Given the description of an element on the screen output the (x, y) to click on. 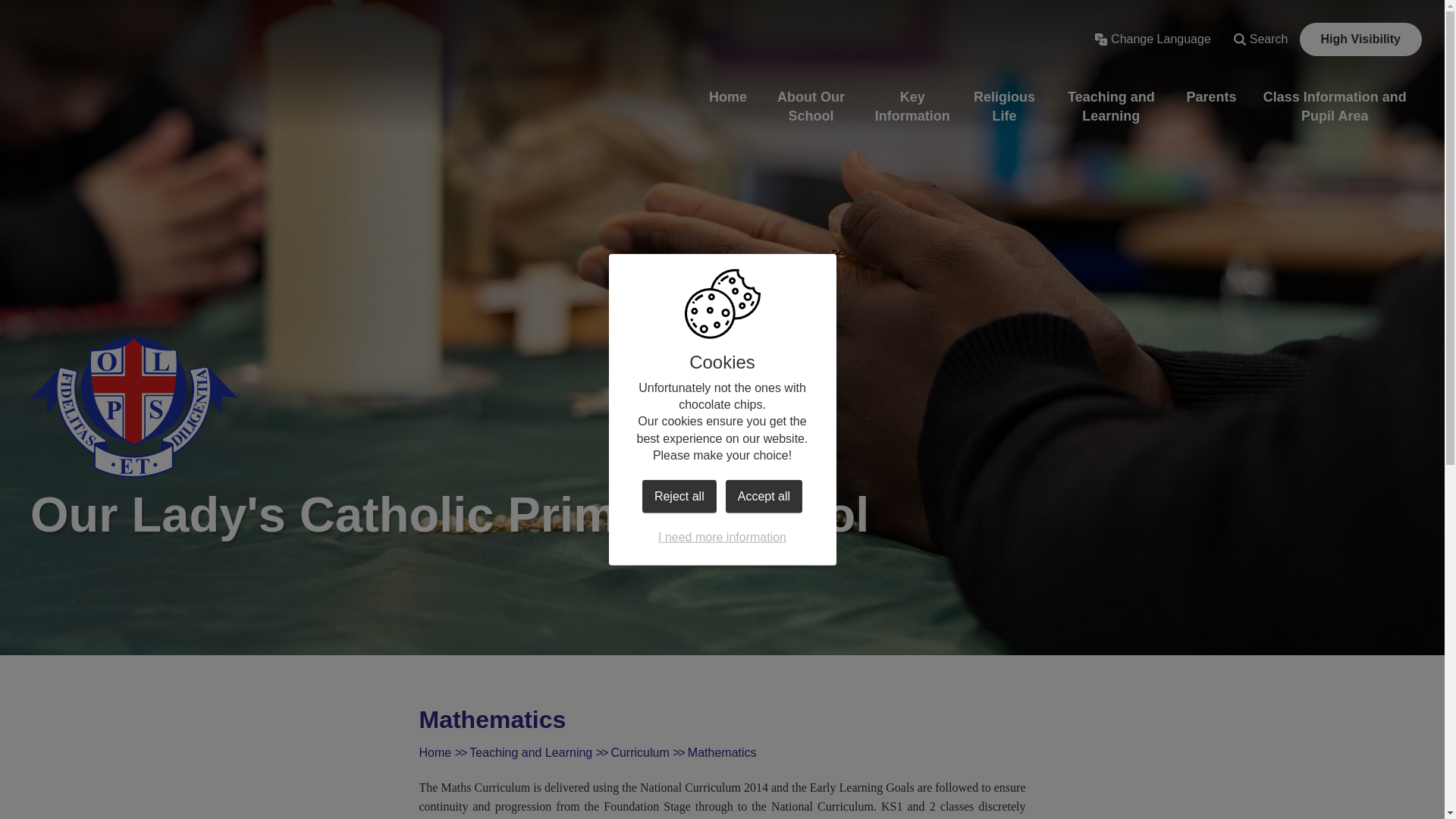
Home Page (134, 406)
Change Language (1153, 39)
Key Information (912, 106)
High Visibility (1361, 39)
Search (1261, 39)
Home (727, 97)
About Our School (810, 106)
